Given the description of an element on the screen output the (x, y) to click on. 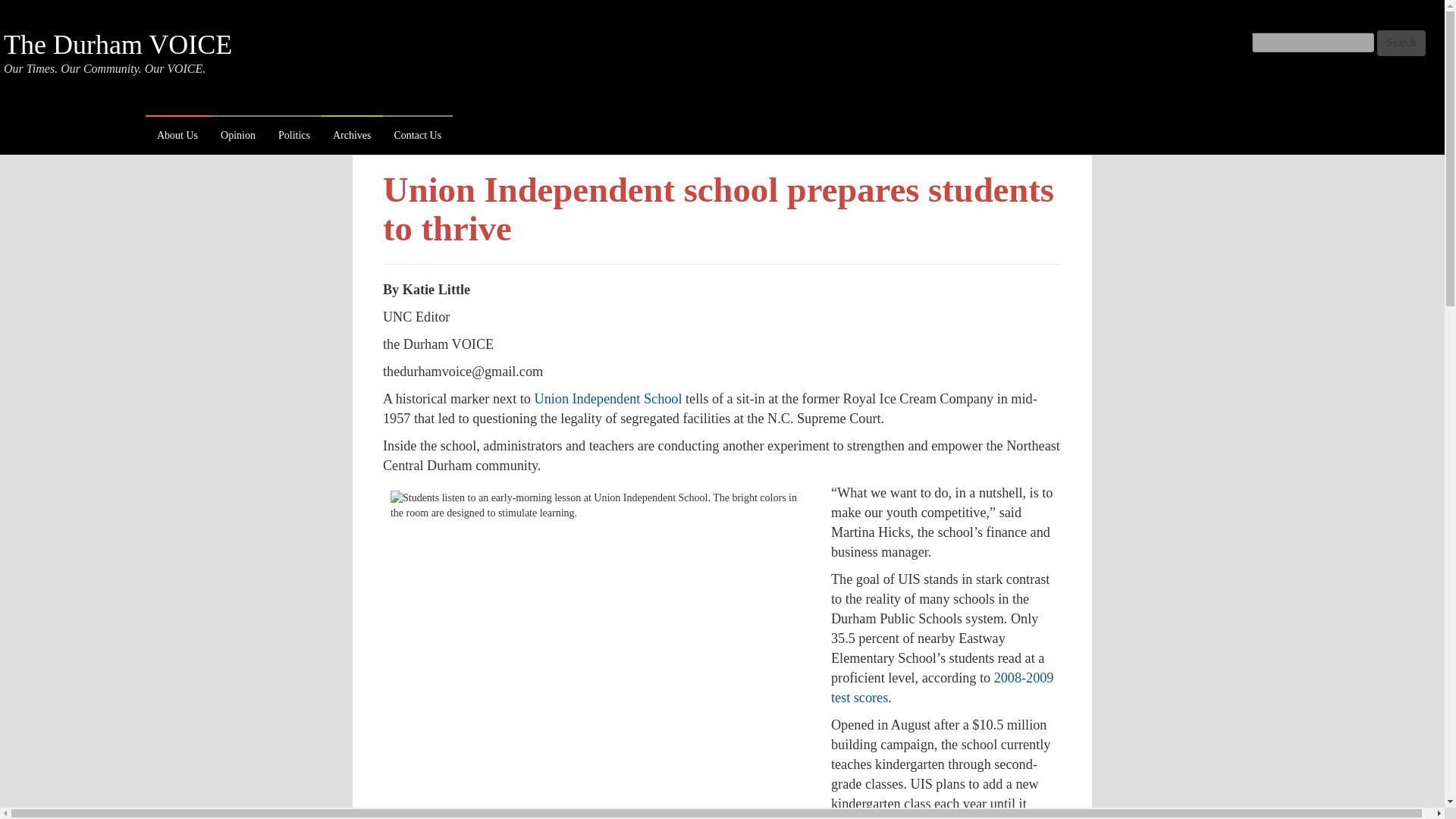
Politics (293, 135)
Union Independent School (607, 398)
Search (1401, 43)
Search (1401, 43)
Contact Us (417, 135)
Contact Us (417, 135)
Opinion (237, 135)
The Durham VOICE (117, 44)
About Us (177, 135)
Opinion (237, 135)
